Given the description of an element on the screen output the (x, y) to click on. 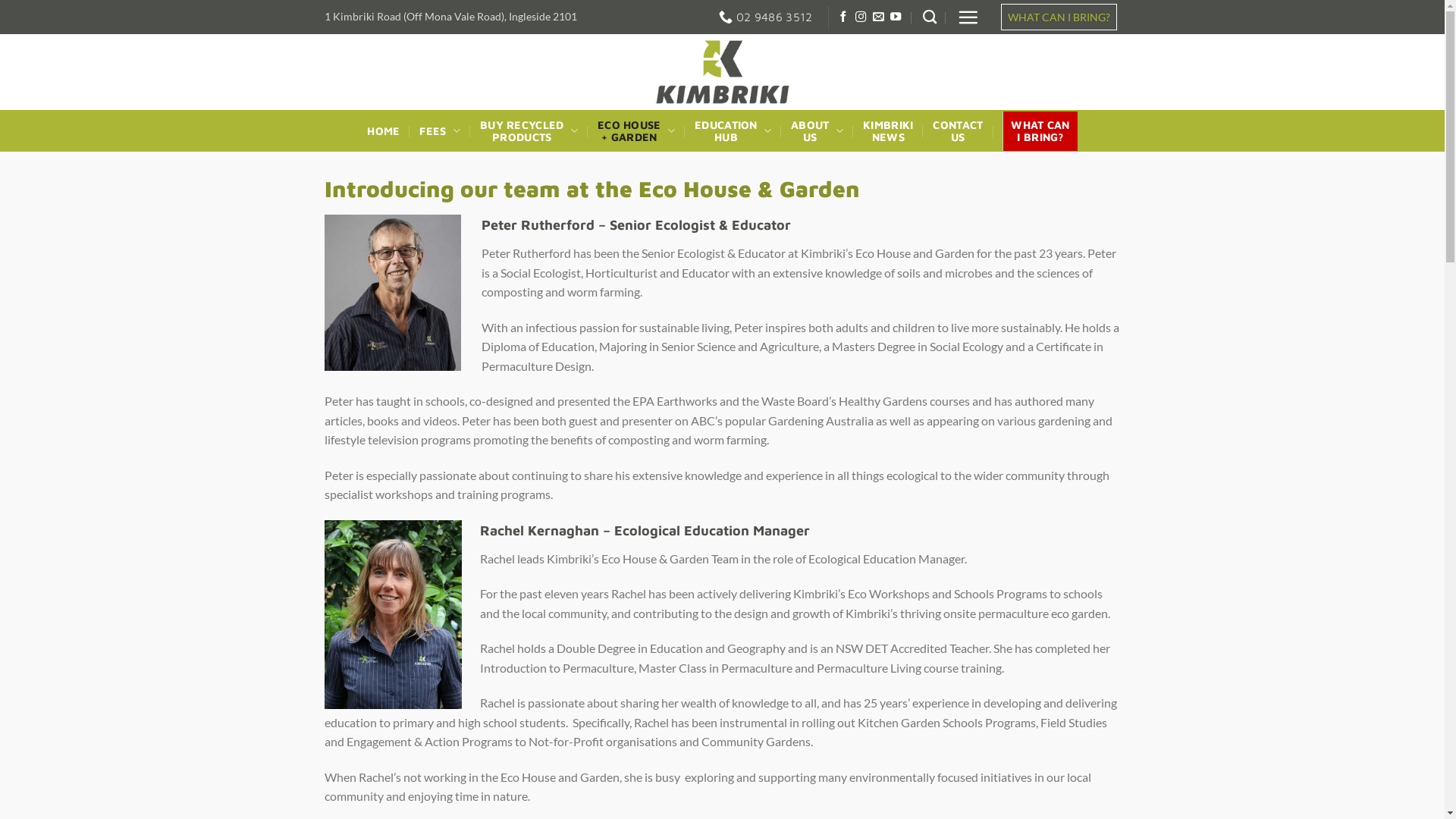
CONTACT
US Element type: text (957, 130)
BUY RECYCLED
PRODUCTS Element type: text (528, 130)
WHAT CAN
I BRING? Element type: text (1039, 130)
HOME Element type: text (383, 130)
ABOUT
US Element type: text (816, 130)
02 9486 3512 Element type: text (765, 16)
WHAT CAN I BRING? Element type: text (1058, 16)
ECO HOUSE
+ GARDEN Element type: text (635, 130)
EDUCATION
HUB Element type: text (732, 130)
KIMBRIKI
NEWS Element type: text (887, 130)
FEES Element type: text (439, 130)
